Given the description of an element on the screen output the (x, y) to click on. 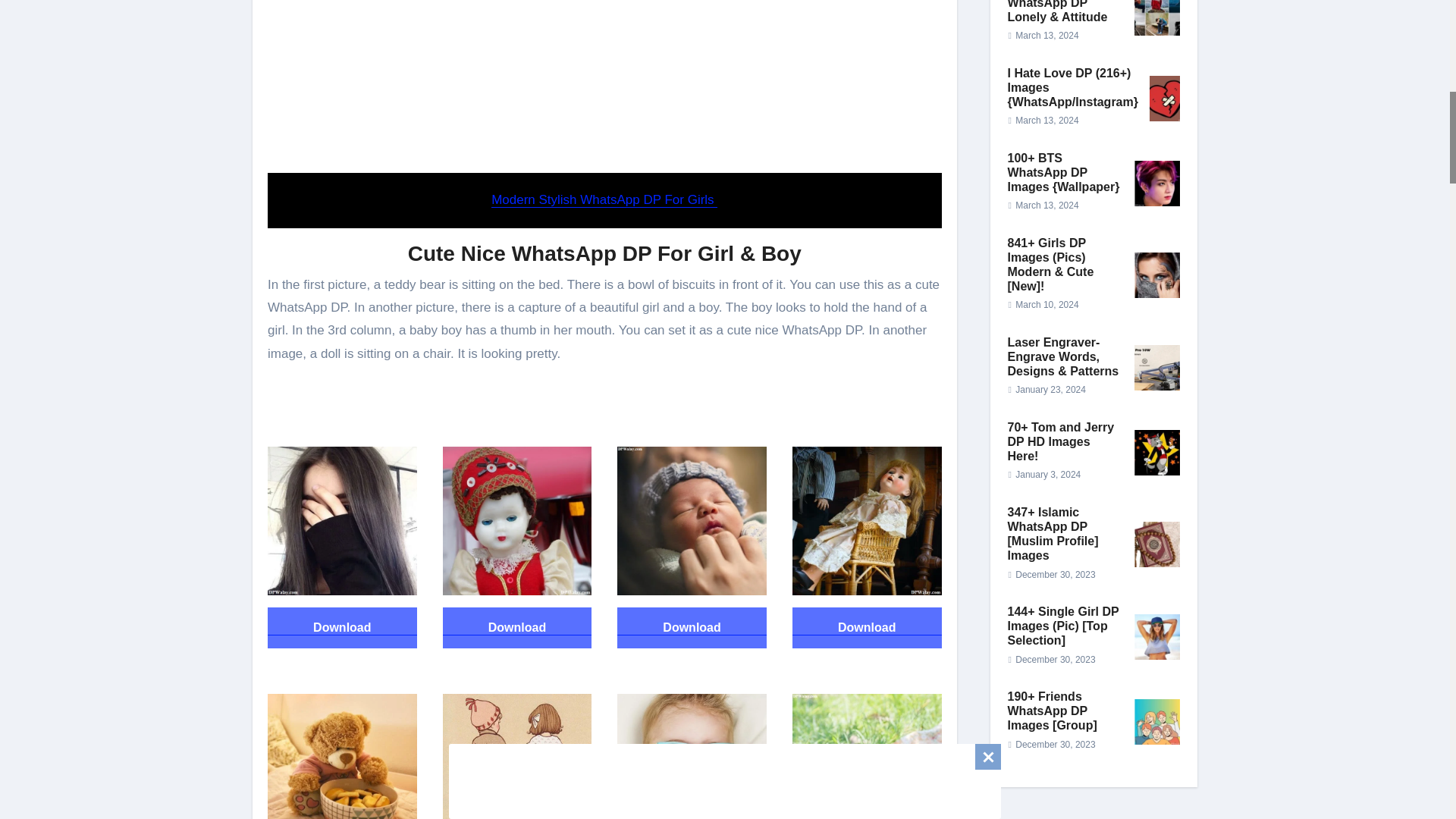
Download (692, 627)
Modern Stylish WhatsApp DP For Girls  (604, 199)
Download (517, 626)
Download (867, 627)
Download (341, 626)
Download (692, 626)
Download (517, 627)
Download (867, 626)
Download (341, 627)
Advertisement (606, 82)
